Given the description of an element on the screen output the (x, y) to click on. 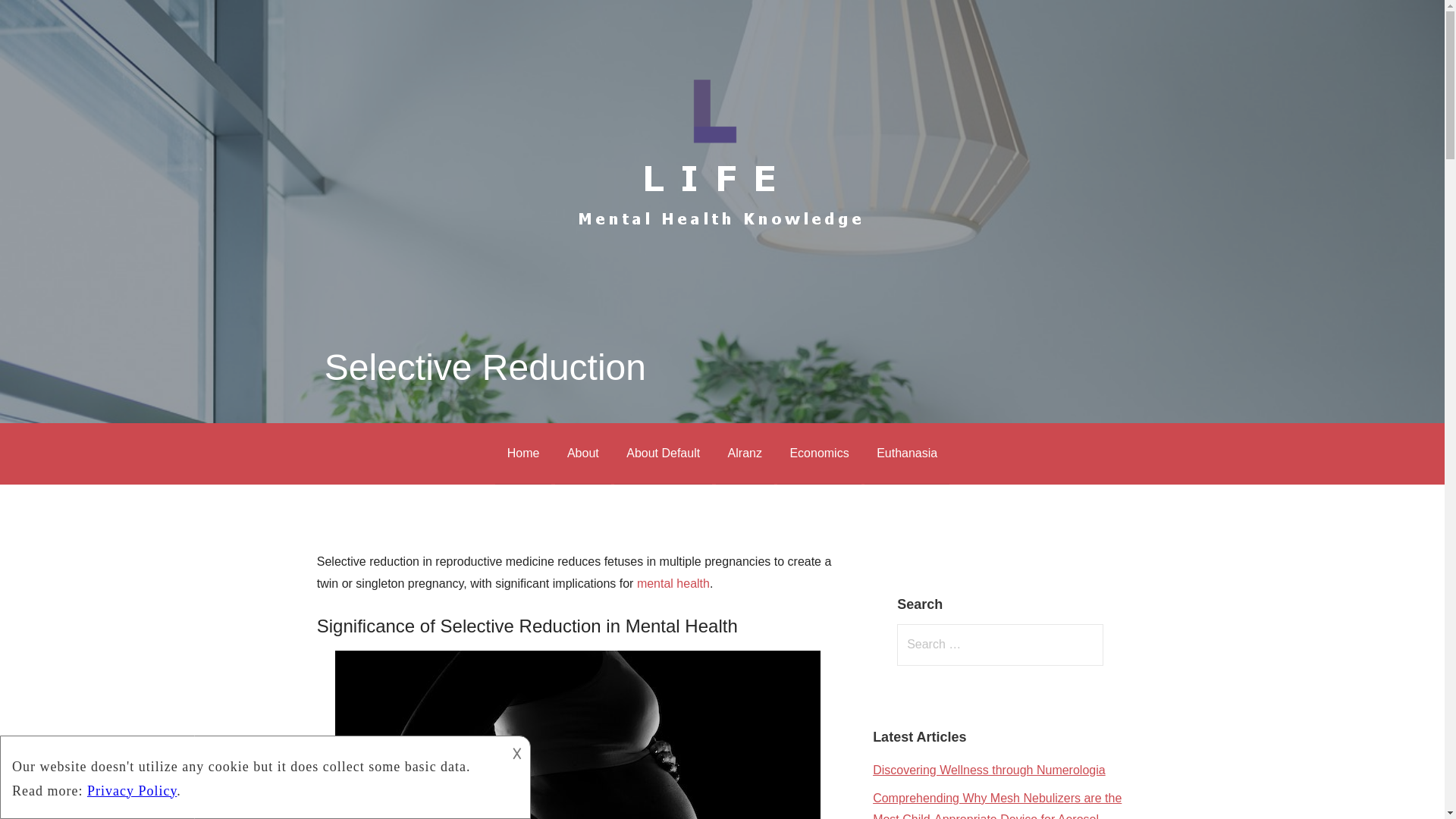
description (252, 774)
About Default (662, 453)
Euthanasia (906, 453)
Home (523, 453)
About (582, 453)
Alranz (745, 453)
mental health (673, 583)
Discovering Wellness through Numerologia (988, 769)
Economics (818, 453)
